Given the description of an element on the screen output the (x, y) to click on. 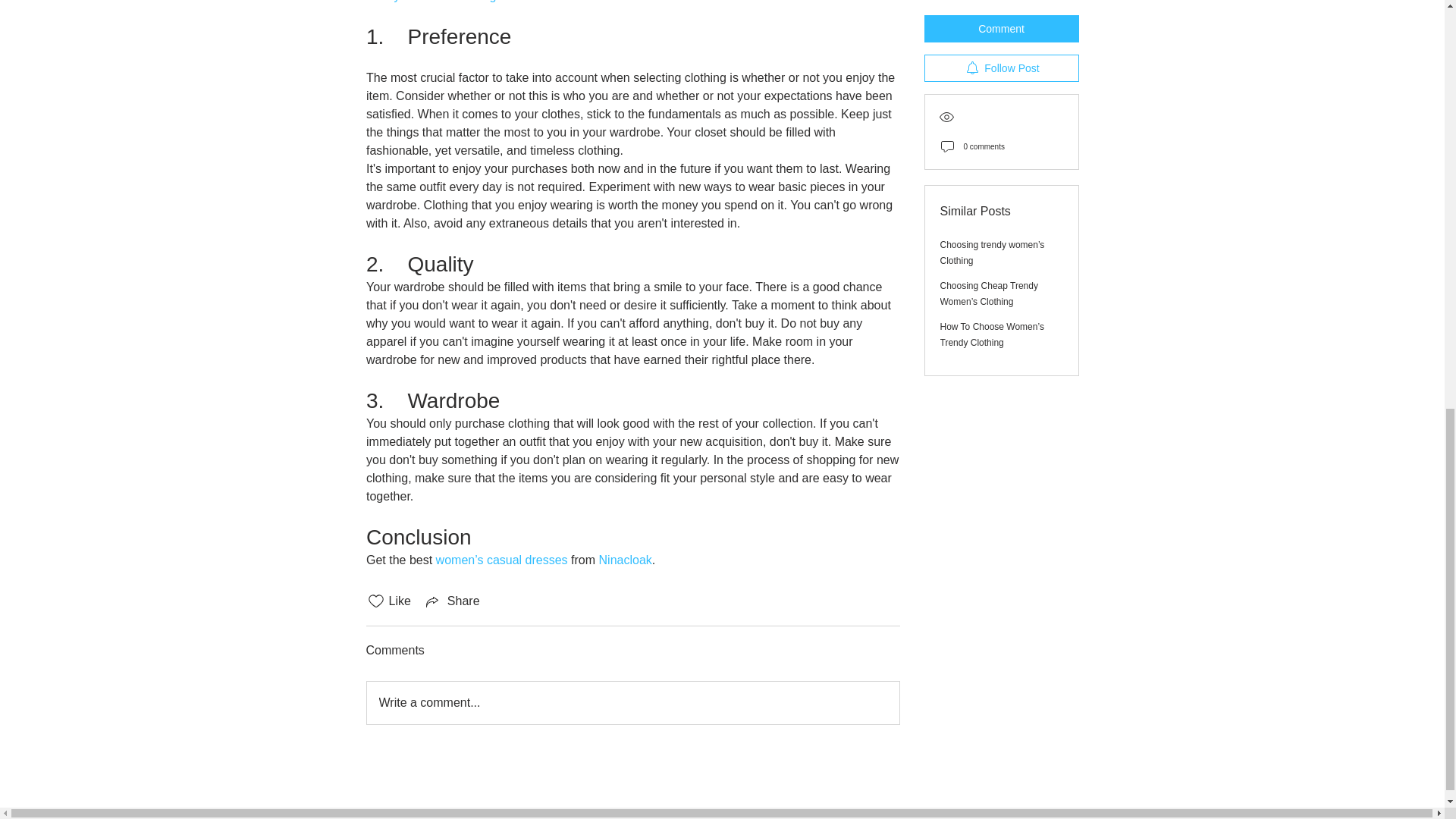
Write a comment... (632, 702)
Ninacloak (624, 559)
Share (451, 601)
